Given the description of an element on the screen output the (x, y) to click on. 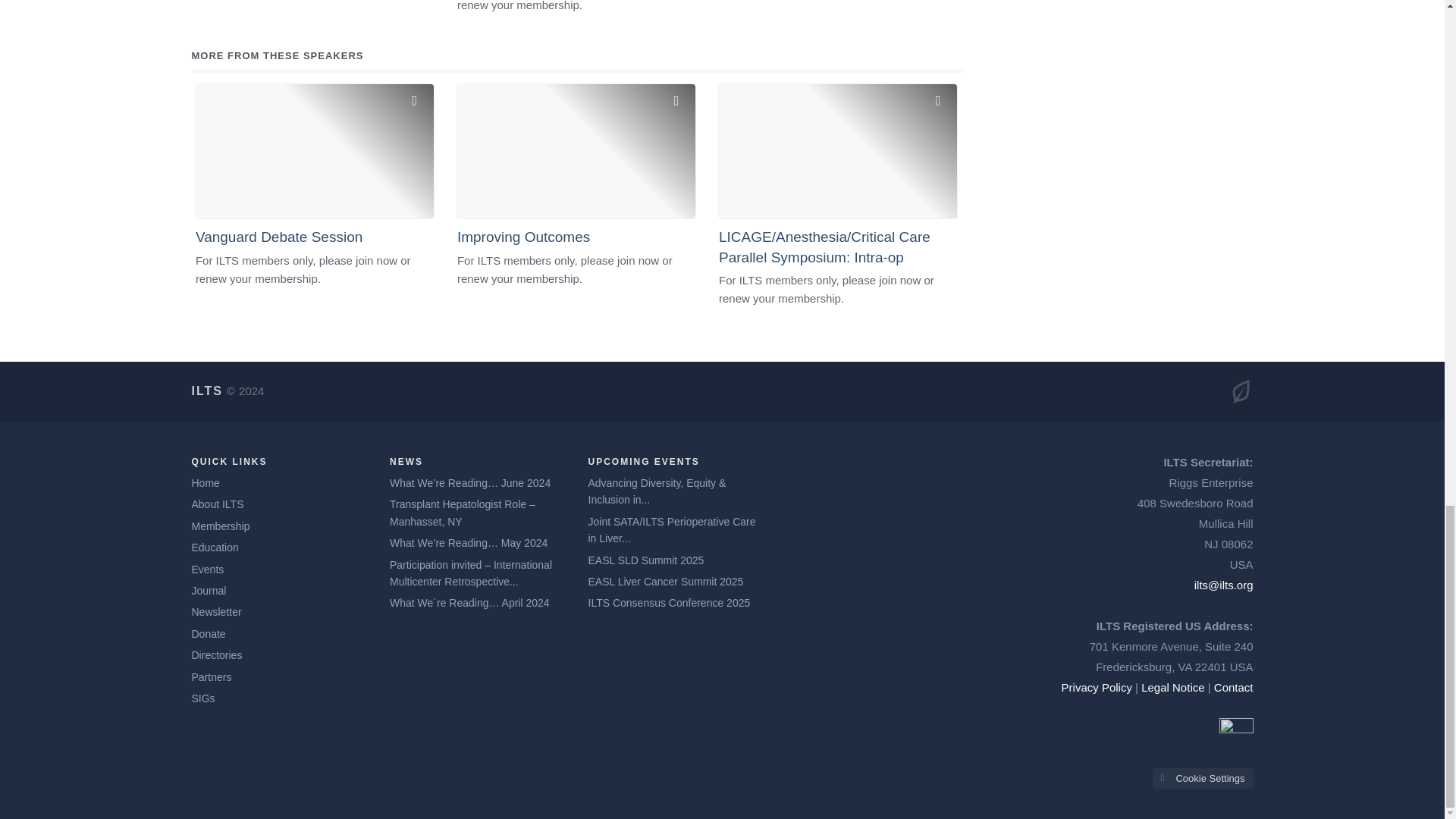
ILTS Consensus Conference 2025 (669, 602)
EASL SLD Summit 2025 (646, 559)
EASL Liver Cancer Summit 2025 (666, 581)
